Given the description of an element on the screen output the (x, y) to click on. 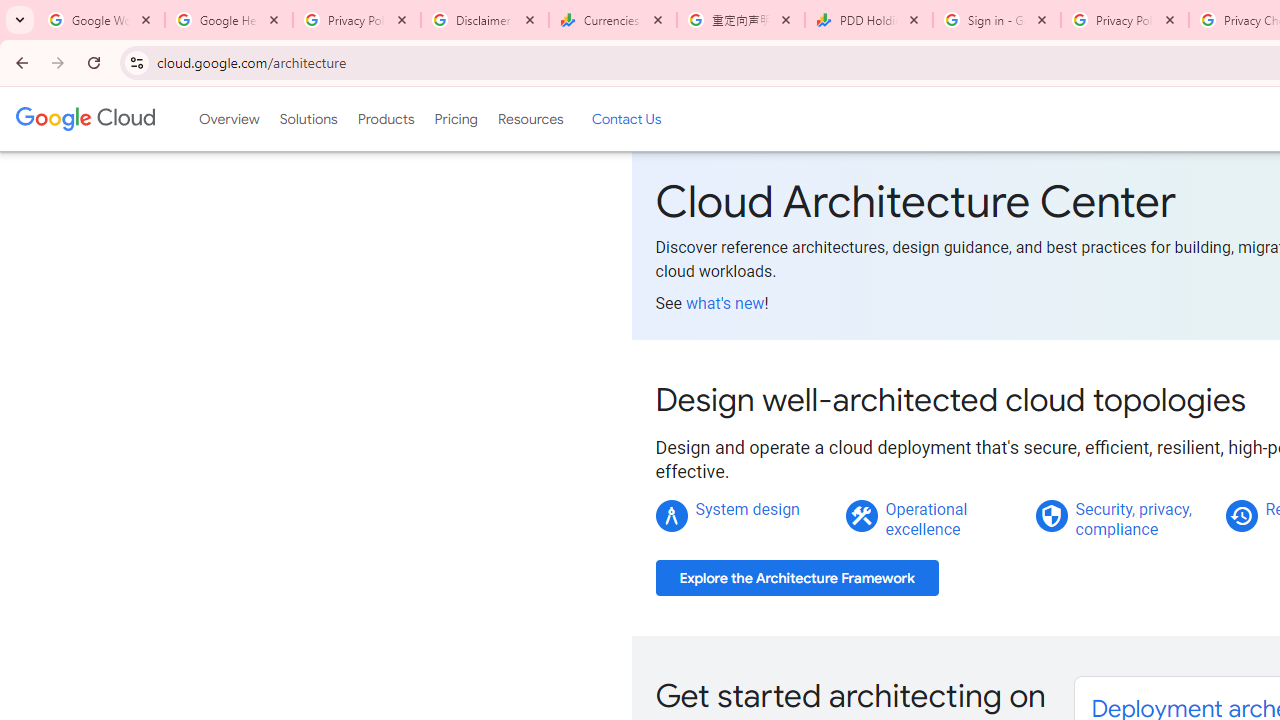
Sign in - Google Accounts (997, 20)
what's new (724, 303)
Security, privacy, compliance (1133, 519)
System design (747, 509)
Solutions (308, 119)
Google Workspace Admin Community (101, 20)
PDD Holdings Inc - ADR (PDD) Price & News - Google Finance (869, 20)
Currencies - Google Finance (613, 20)
Products (385, 119)
